Given the description of an element on the screen output the (x, y) to click on. 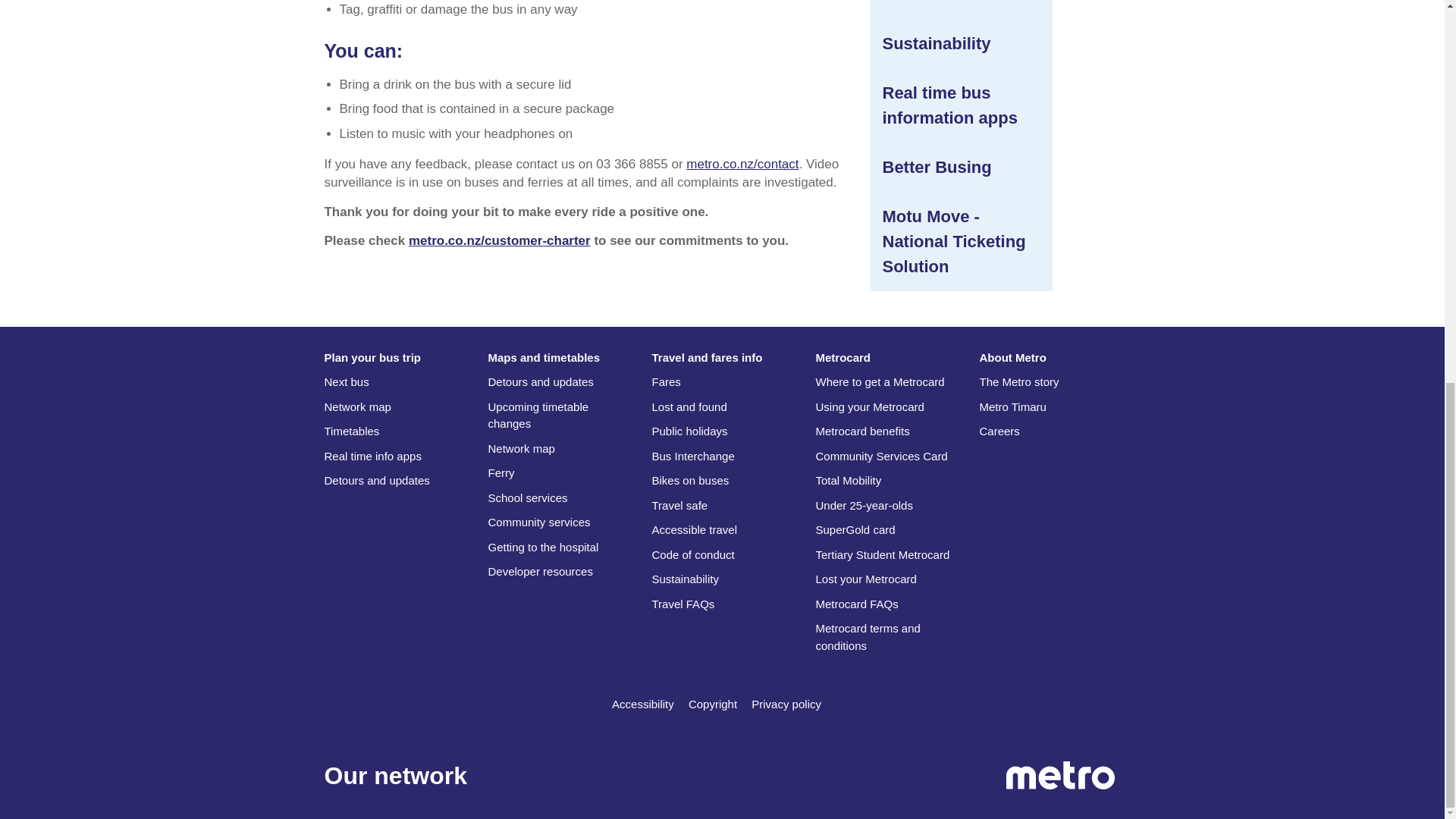
Contact us (741, 164)
Sustainability (961, 43)
Travel safe (961, 3)
View our customer charter (500, 240)
